Given the description of an element on the screen output the (x, y) to click on. 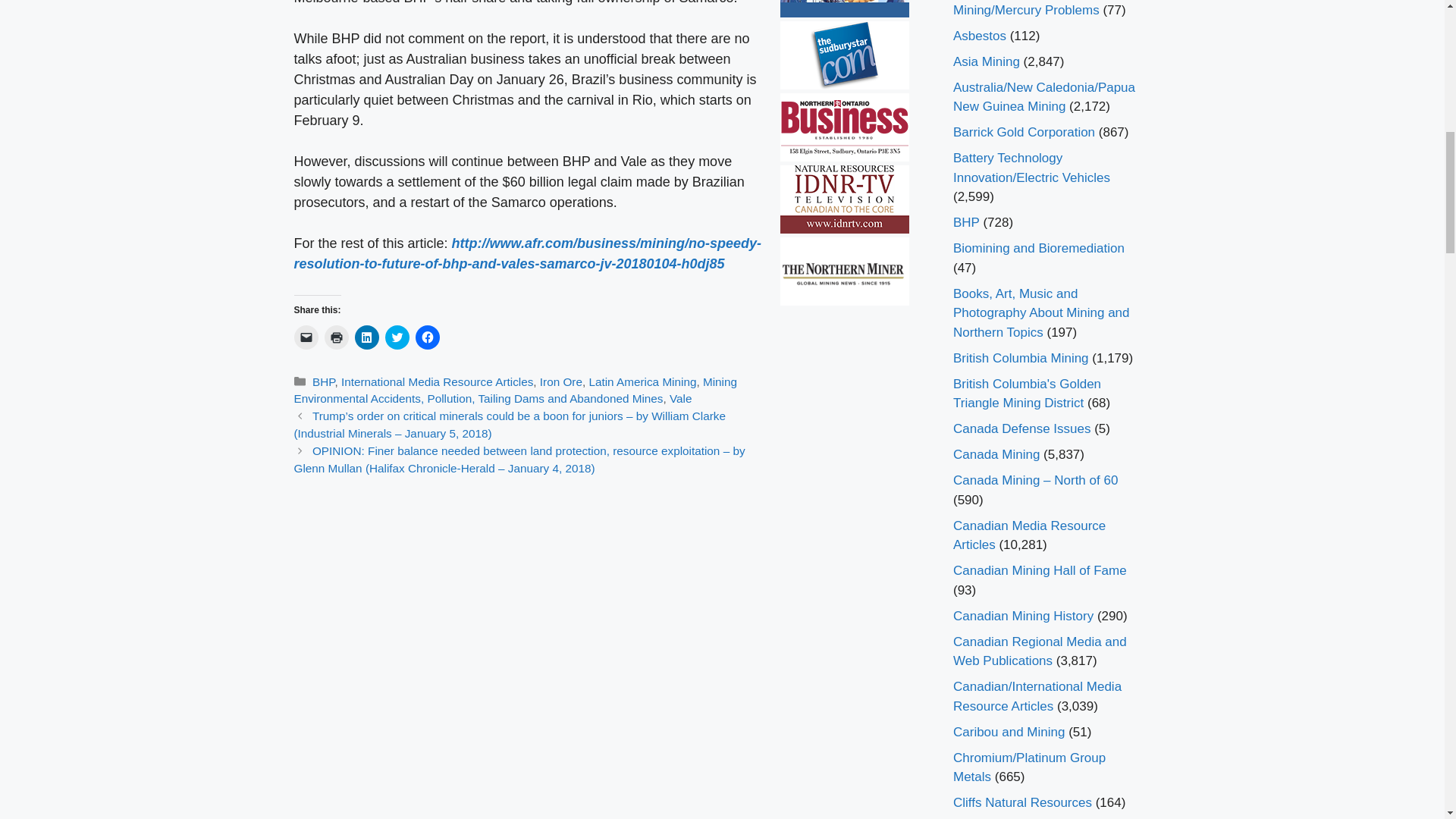
Click to print (336, 337)
Scroll back to top (1406, 720)
Click to share on LinkedIn (366, 337)
Click to email a link to a friend (306, 337)
Click to share on Facebook (426, 337)
Click to share on Twitter (397, 337)
